Given the description of an element on the screen output the (x, y) to click on. 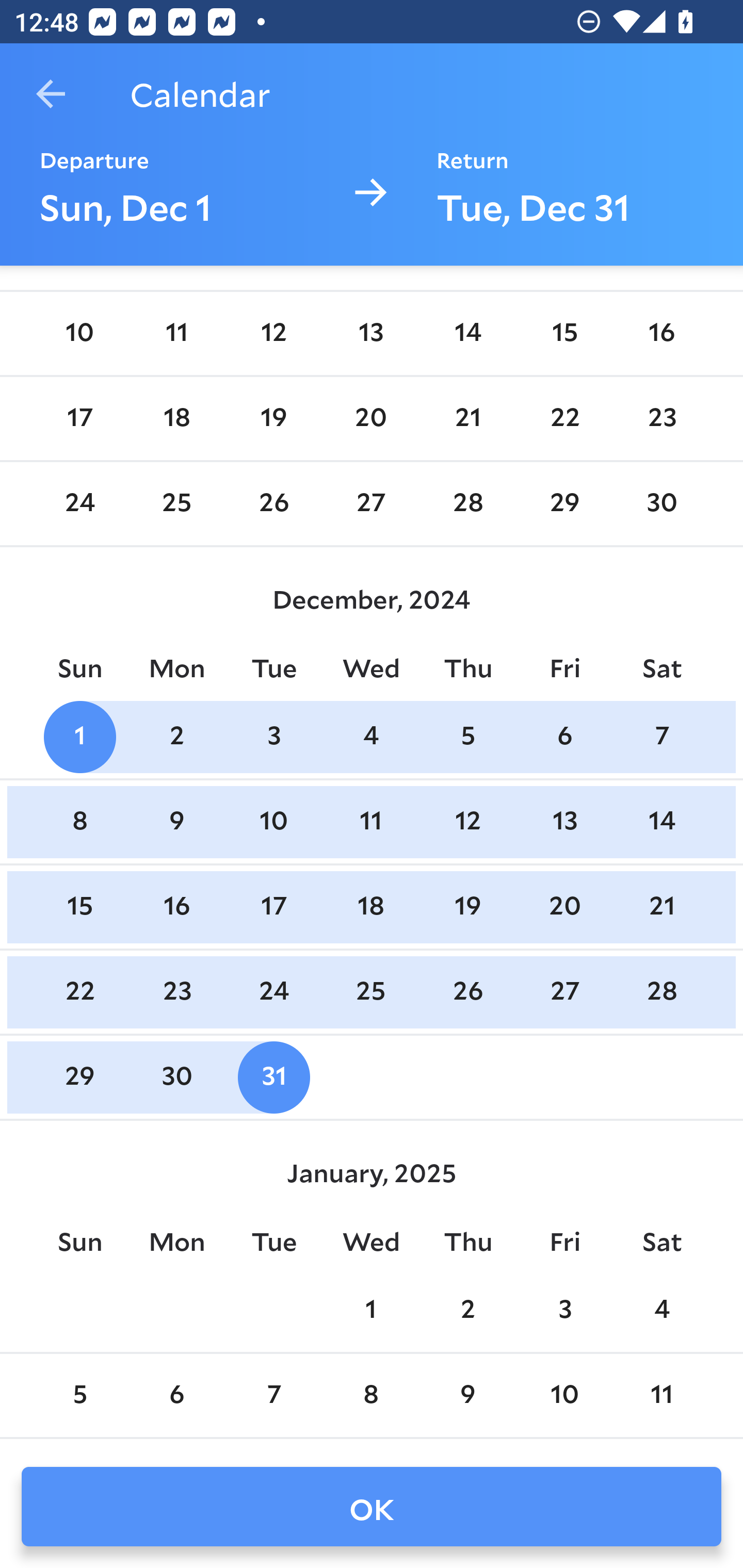
Navigate up (50, 93)
10 (79, 333)
11 (177, 333)
12 (273, 333)
13 (371, 333)
14 (467, 333)
15 (565, 333)
16 (661, 333)
17 (79, 418)
18 (177, 418)
19 (273, 418)
20 (371, 418)
21 (467, 418)
22 (565, 418)
23 (661, 418)
24 (79, 503)
25 (177, 503)
26 (273, 503)
27 (371, 503)
28 (467, 503)
29 (565, 503)
30 (661, 503)
1 (79, 736)
2 (177, 736)
3 (273, 736)
4 (371, 736)
5 (467, 736)
6 (565, 736)
7 (661, 736)
8 (79, 821)
9 (177, 821)
10 (273, 821)
11 (371, 821)
12 (467, 821)
13 (565, 821)
14 (661, 821)
15 (79, 907)
16 (177, 907)
17 (273, 907)
18 (371, 907)
19 (467, 907)
20 (565, 907)
21 (661, 907)
22 (79, 992)
23 (177, 992)
24 (273, 992)
25 (371, 992)
26 (467, 992)
27 (565, 992)
28 (661, 992)
29 (79, 1077)
30 (177, 1077)
31 (273, 1077)
1 (371, 1310)
2 (467, 1310)
3 (565, 1310)
4 (661, 1310)
5 (79, 1395)
6 (177, 1395)
7 (273, 1395)
8 (371, 1395)
9 (467, 1395)
10 (565, 1395)
11 (661, 1395)
OK (371, 1506)
